Given the description of an element on the screen output the (x, y) to click on. 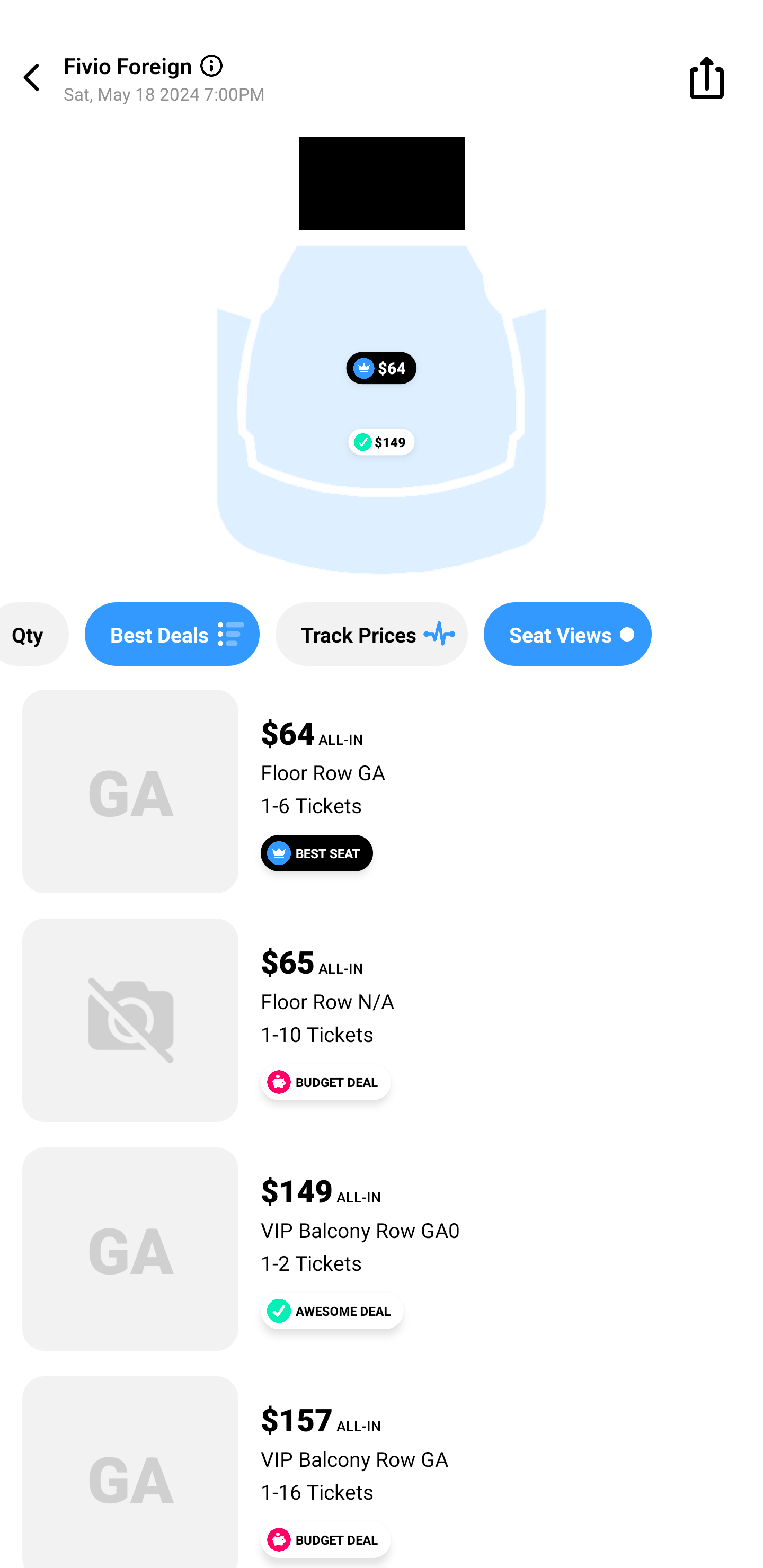
$64 (381, 367)
$149 (381, 441)
Qty (34, 634)
Best Deals (171, 634)
Track Prices (371, 634)
Seat Views (567, 634)
BEST SEAT (316, 852)
BUDGET DEAL (325, 1081)
AWESOME DEAL (331, 1310)
BUDGET DEAL (325, 1539)
